Given the description of an element on the screen output the (x, y) to click on. 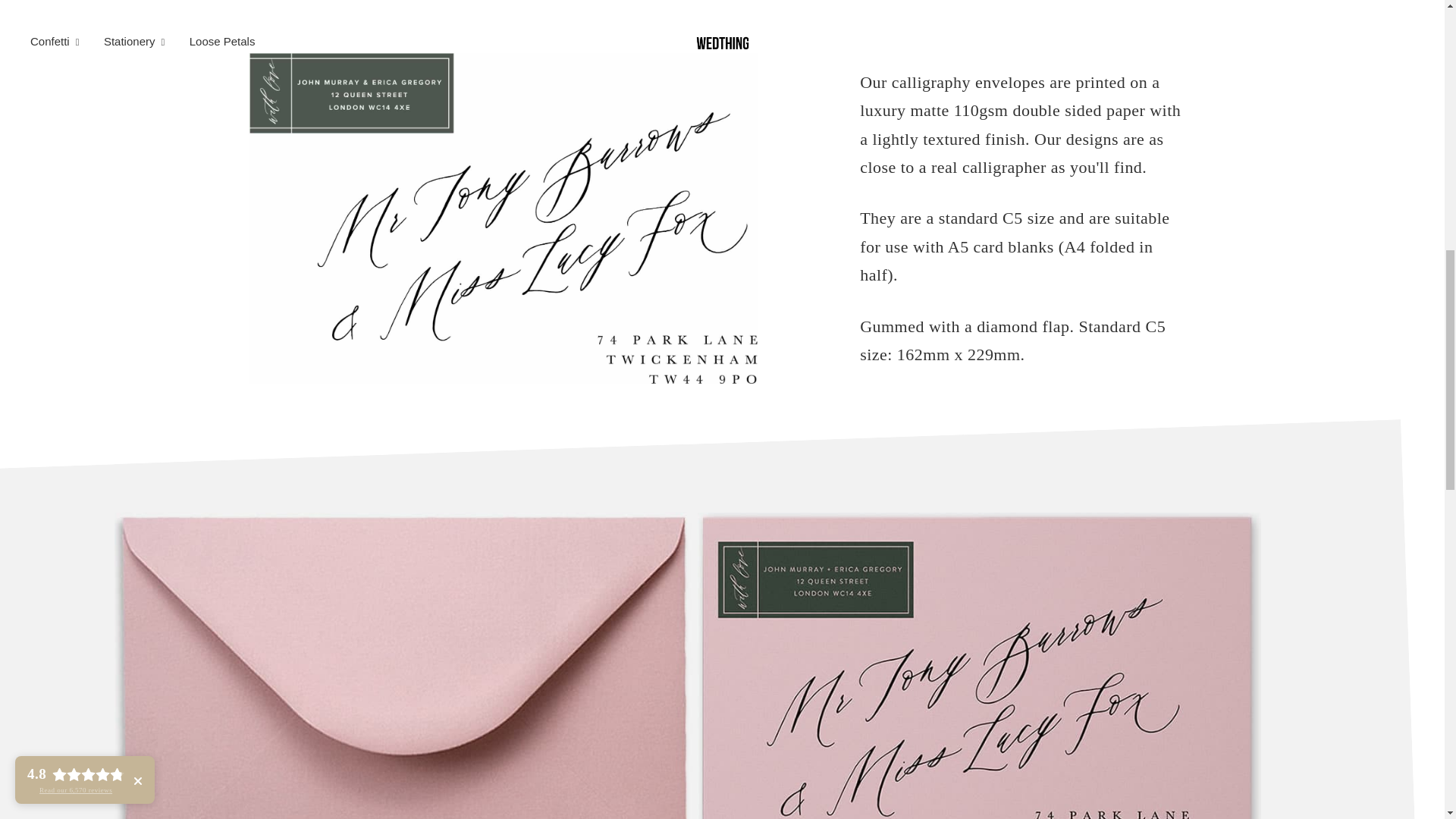
Gummed with a diamond flap. Standard C5 size: 162mm x 229mm. (1022, 340)
